Given the description of an element on the screen output the (x, y) to click on. 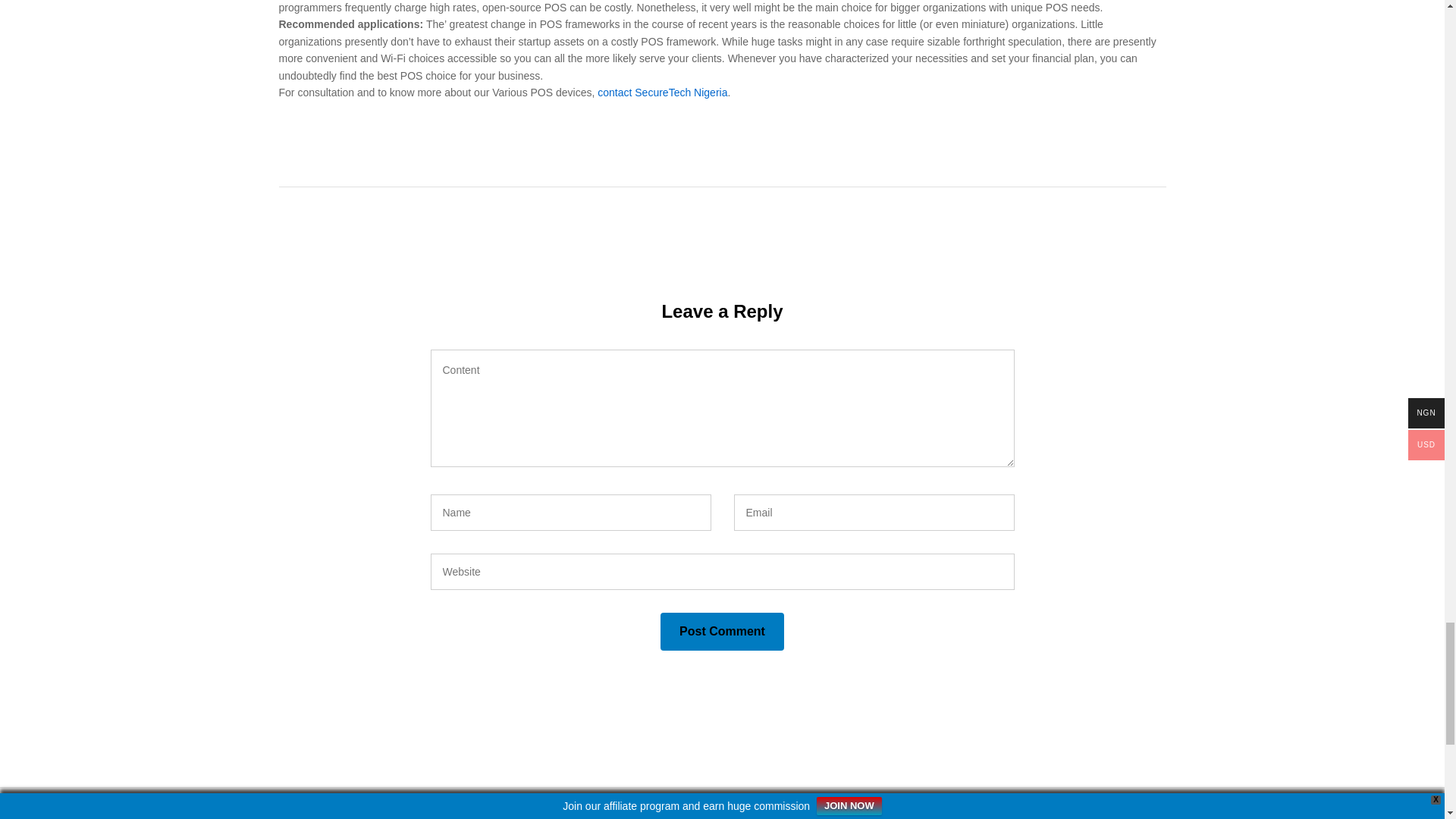
Post Comment (722, 631)
